Given the description of an element on the screen output the (x, y) to click on. 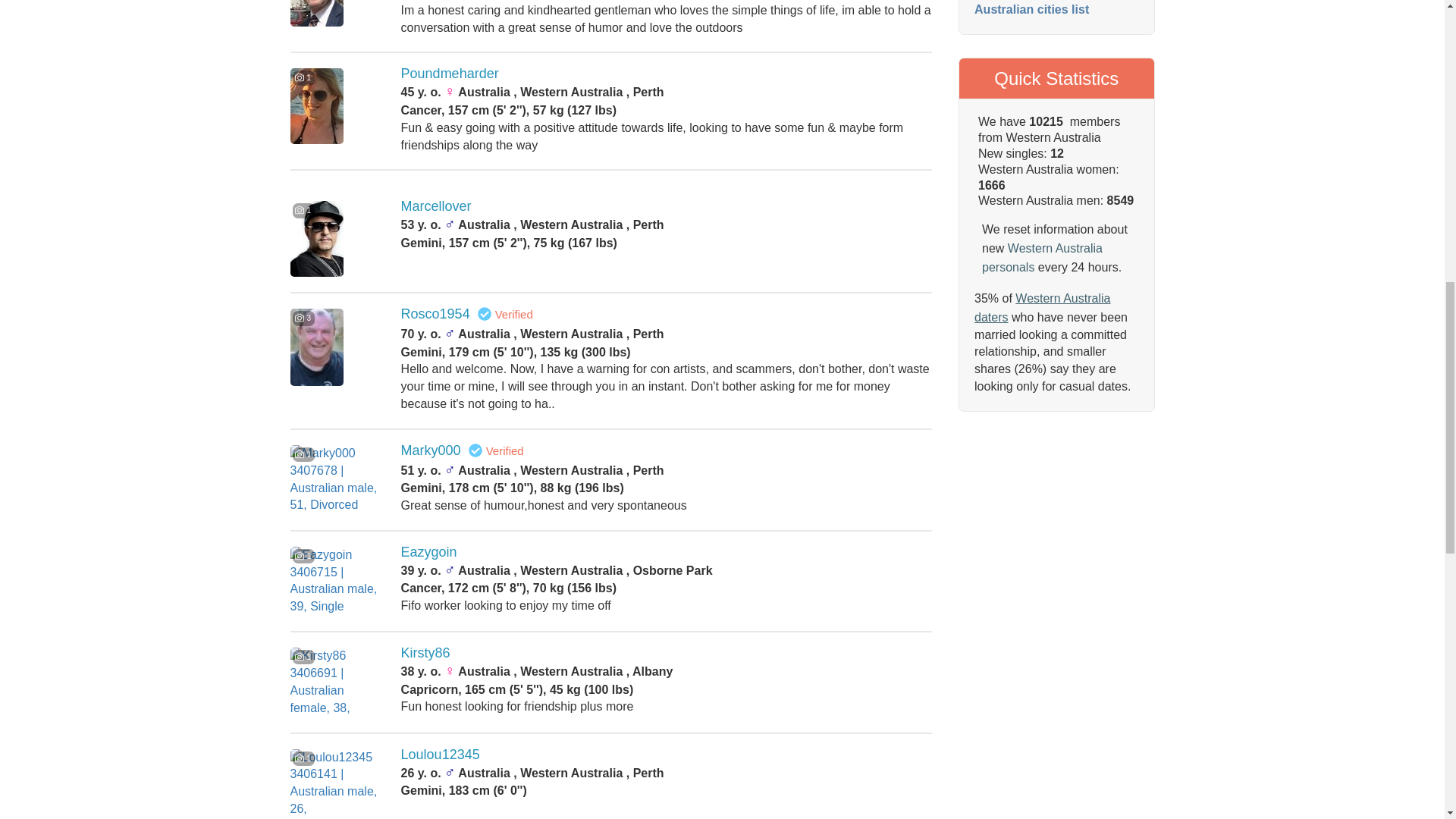
Verified (474, 450)
Kirsty86 (425, 652)
Poundmeharder (450, 73)
Eazygoin (429, 551)
Marcellover (436, 206)
Marky000 (431, 450)
Verified (484, 314)
Rosco1954 (435, 313)
Loulou12345 (440, 754)
